Given the description of an element on the screen output the (x, y) to click on. 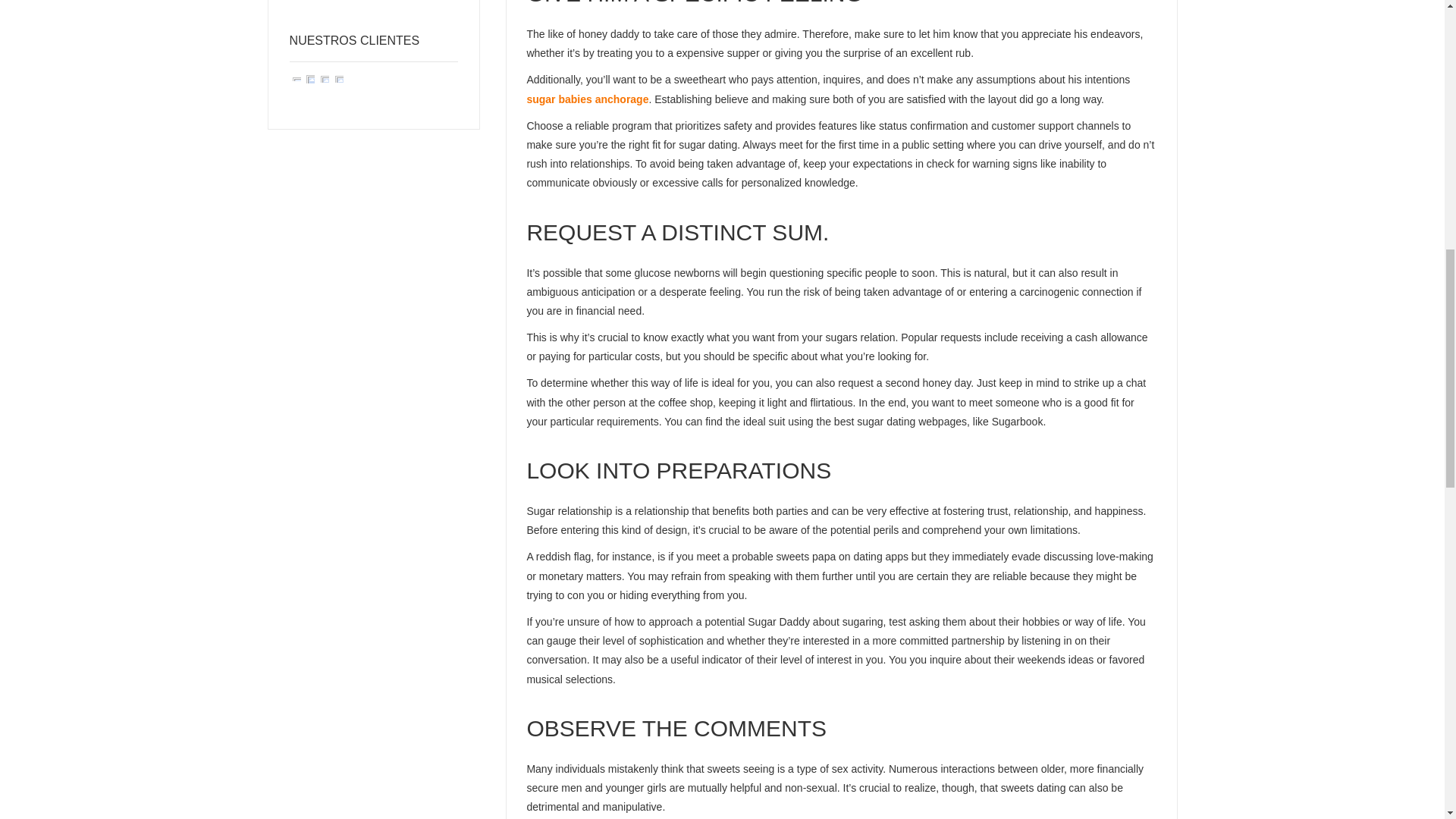
sugar babies anchorage (586, 99)
